Given the description of an element on the screen output the (x, y) to click on. 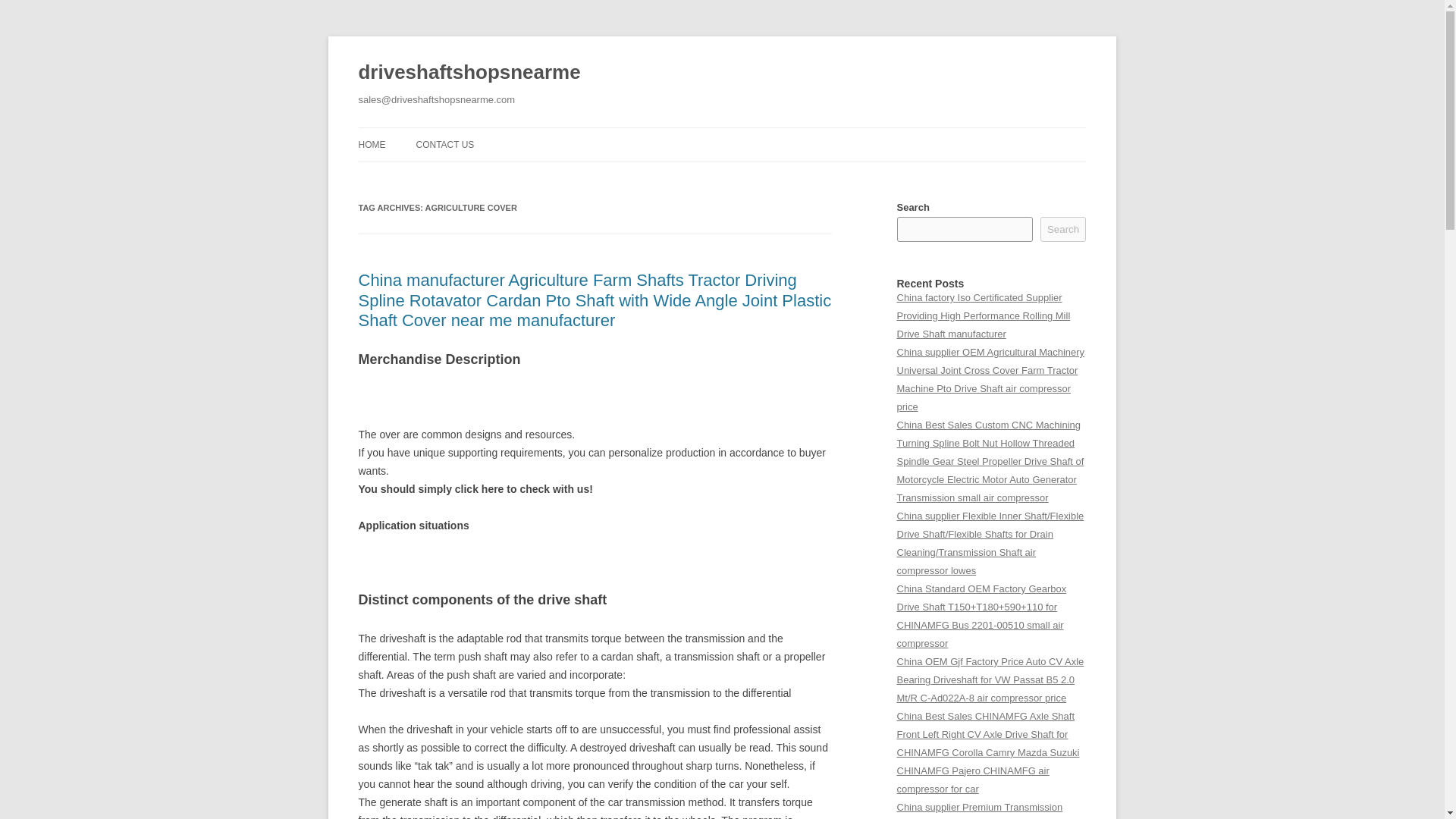
driveshaftshopsnearme (468, 72)
driveshaftshopsnearme (468, 72)
CONTACT US (444, 144)
